Given the description of an element on the screen output the (x, y) to click on. 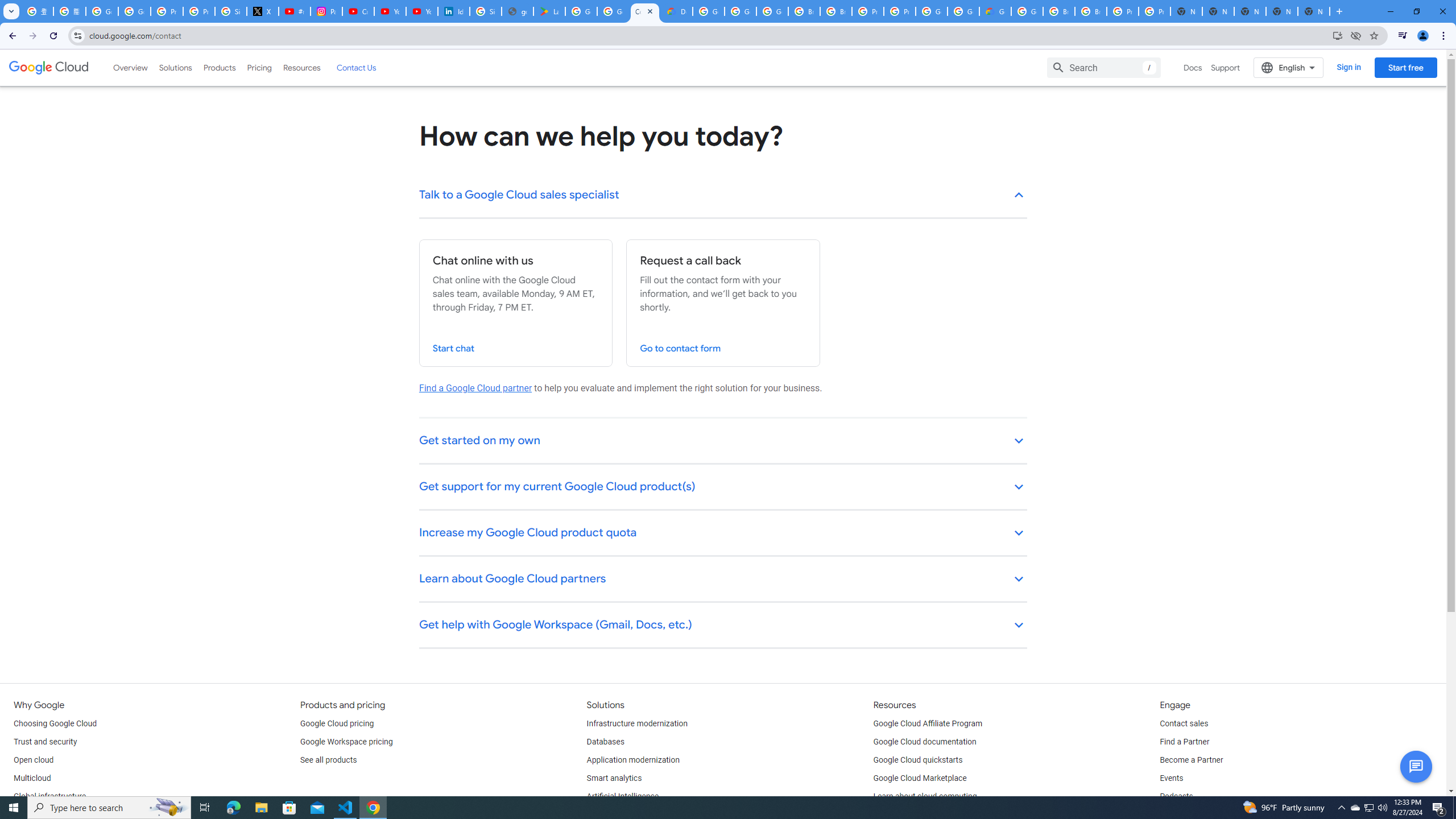
Events (1170, 778)
See all products (327, 760)
Start free (1405, 67)
Browse Chrome as a guest - Computer - Google Chrome Help (804, 11)
Privacy Help Center - Policies Help (198, 11)
Contact Us (355, 67)
